Given the description of an element on the screen output the (x, y) to click on. 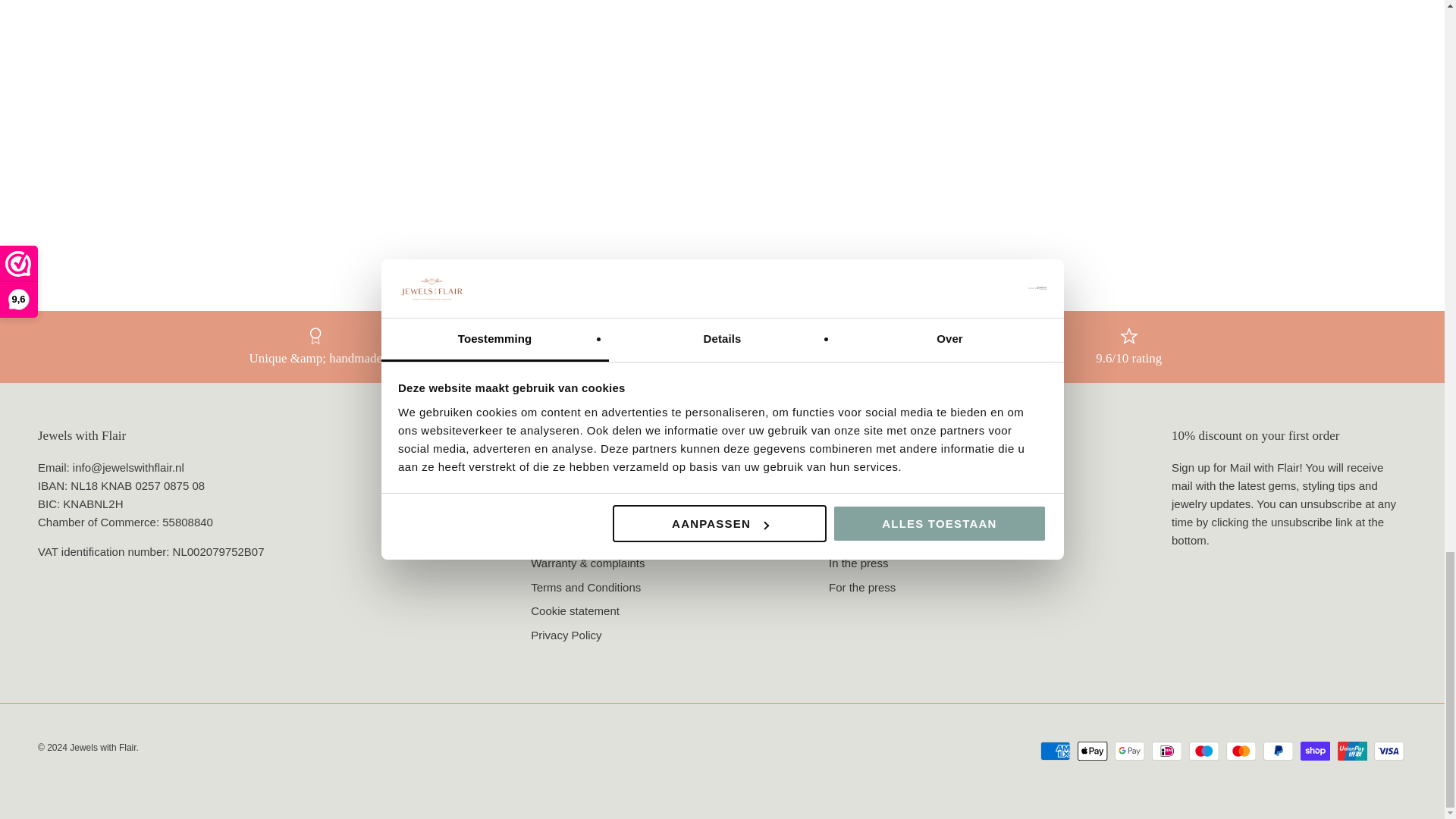
American Express (1055, 751)
Google Pay (1129, 751)
Maestro (1203, 751)
Apple Pay (1092, 751)
iDEAL (1166, 751)
